Given the description of an element on the screen output the (x, y) to click on. 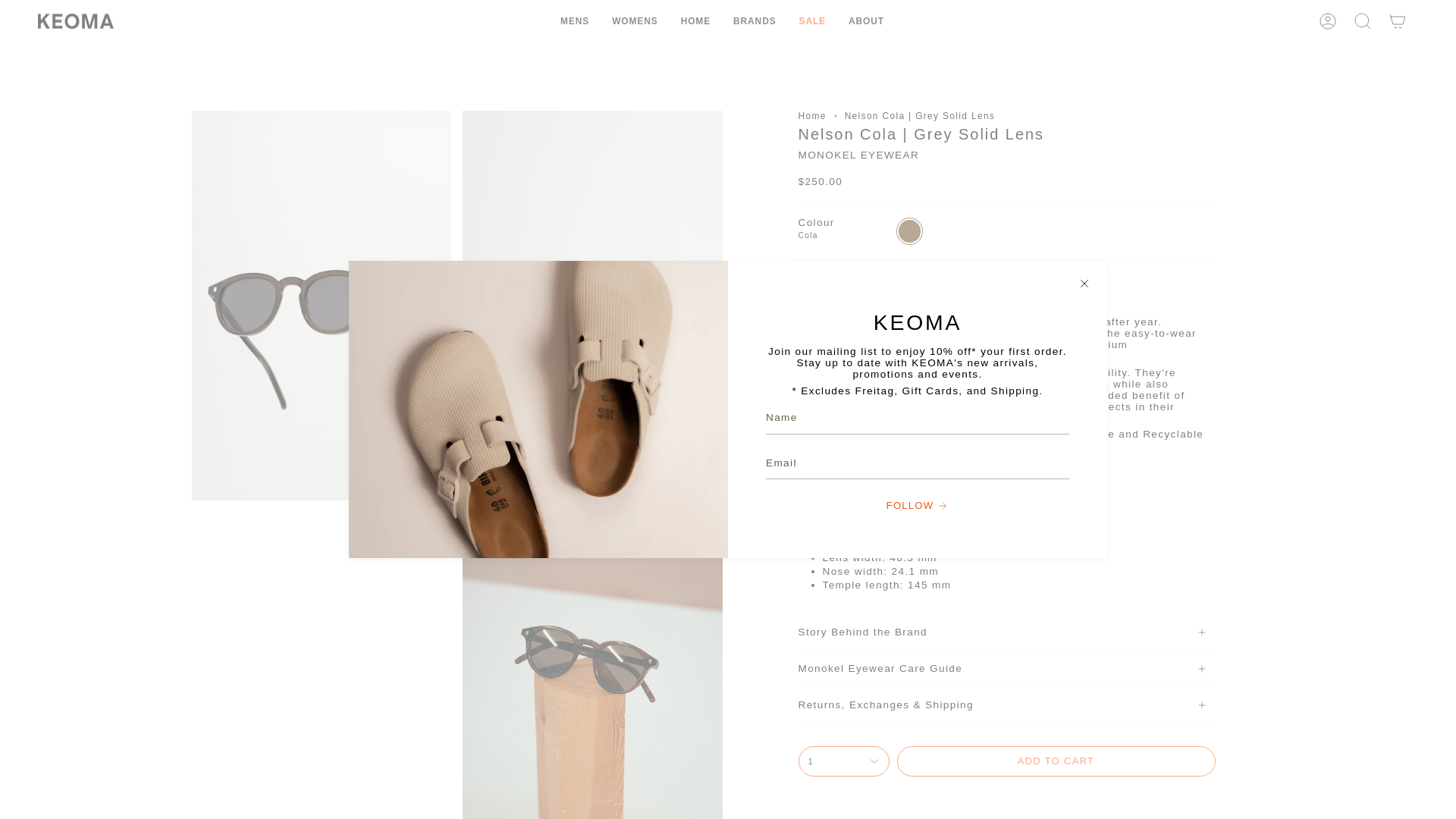
Search (1362, 21)
Close (1084, 283)
MENS (573, 21)
Cart (1397, 21)
My Account (1327, 21)
